Given the description of an element on the screen output the (x, y) to click on. 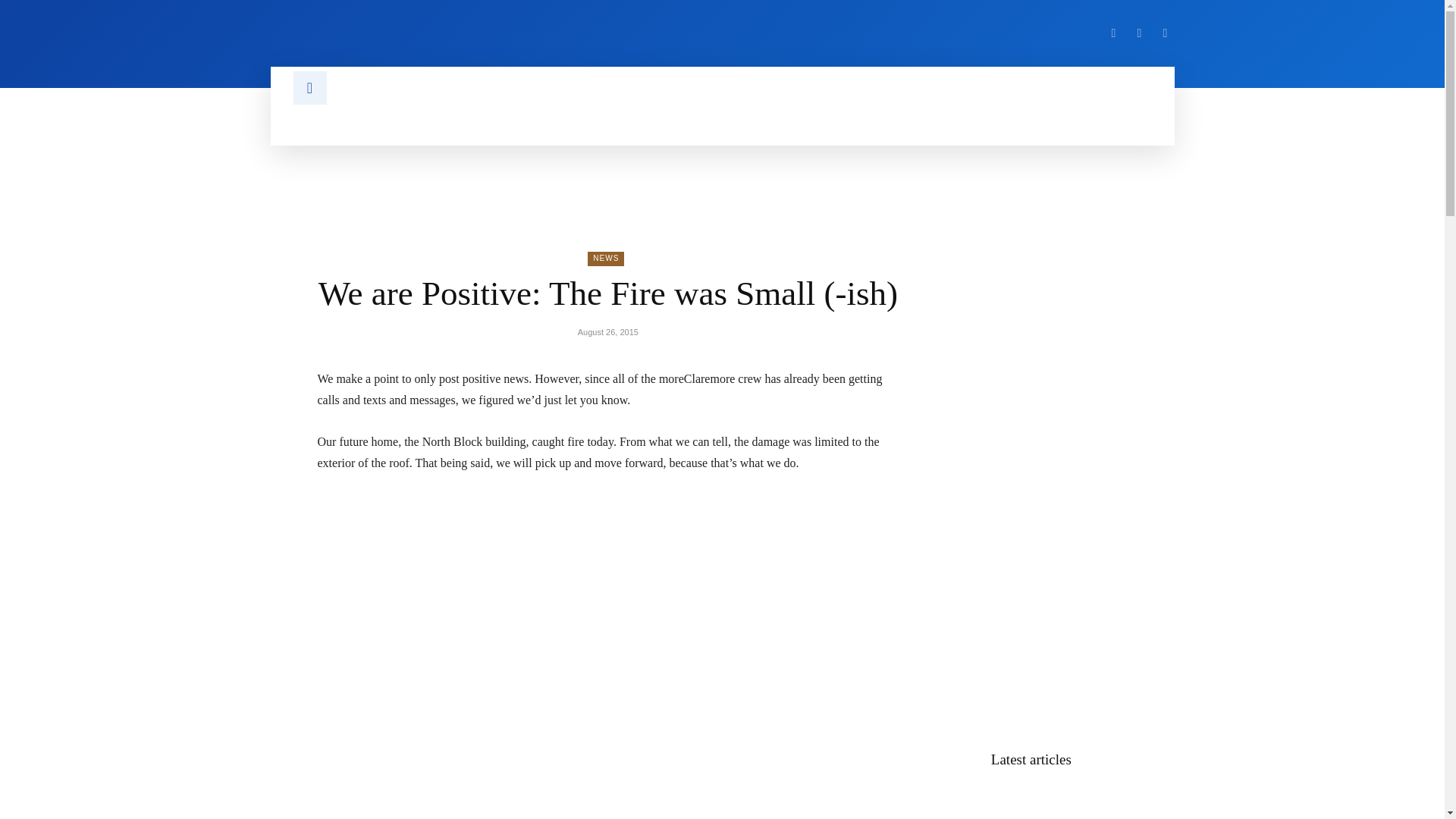
Instagram (1138, 33)
Youtube (1164, 33)
Facebook (1112, 33)
